Given the description of an element on the screen output the (x, y) to click on. 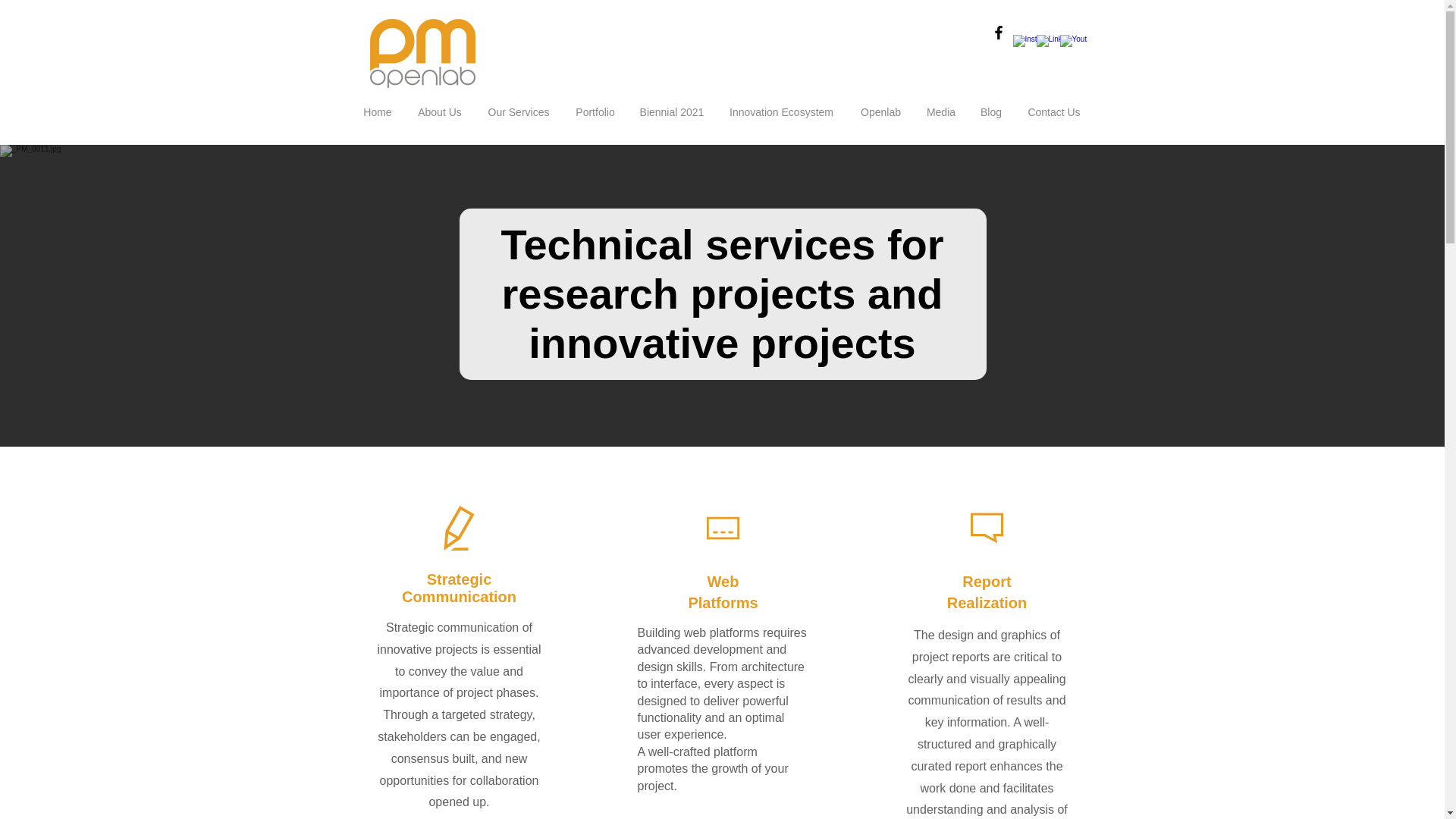
Portfolio (595, 112)
Blog (990, 112)
Logo PMopenlab (422, 52)
Biennial 2021 (670, 112)
Contact Us (1054, 112)
Innovation Ecosystem (781, 112)
Openlab (880, 112)
Media (941, 112)
About Us (440, 112)
Home (377, 112)
